Given the description of an element on the screen output the (x, y) to click on. 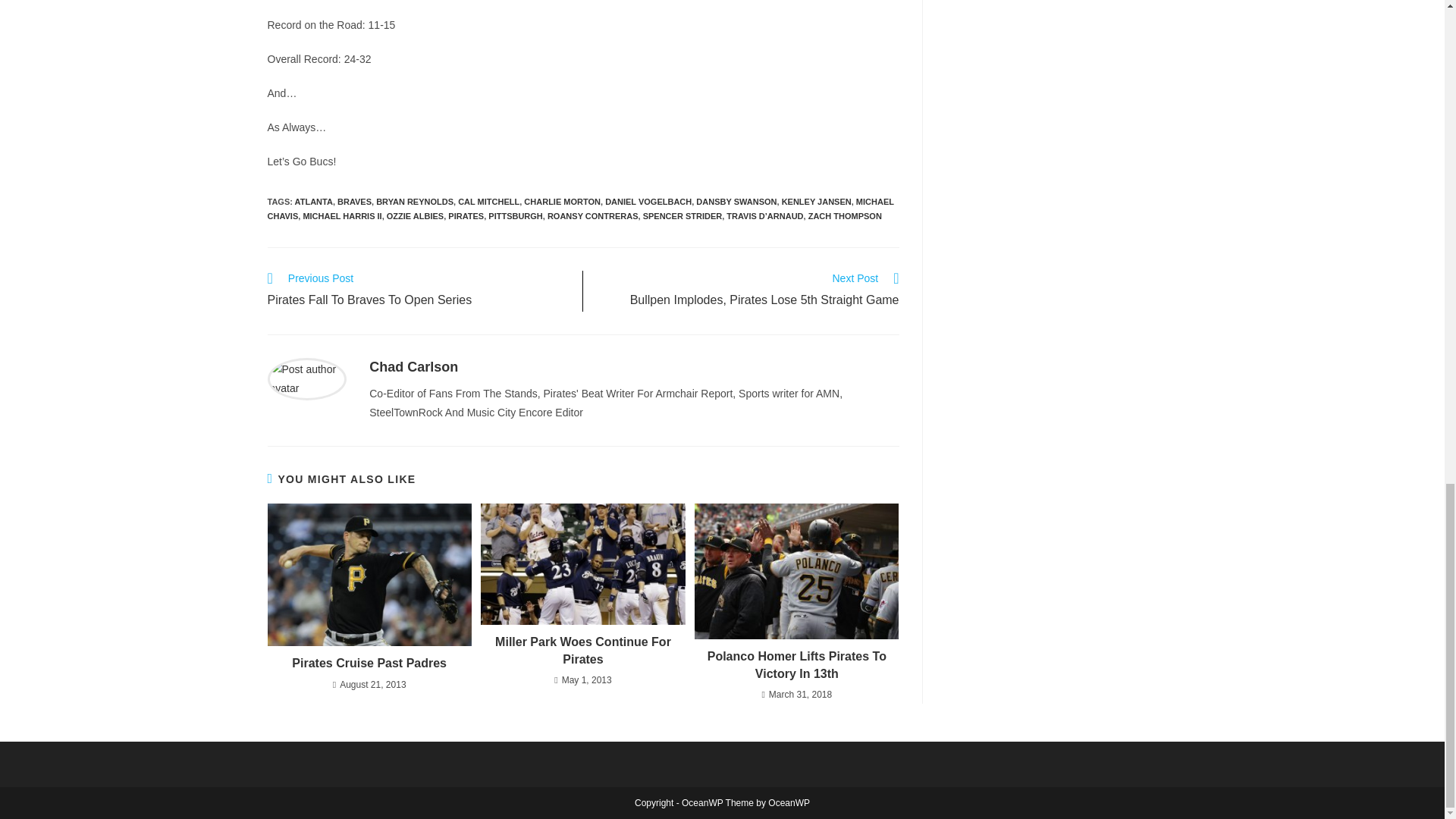
KENLEY JANSEN (816, 201)
BRAVES (354, 201)
MICHAEL HARRIS II (341, 215)
ATLANTA (314, 201)
MICHAEL CHAVIS (579, 209)
CAL MITCHELL (488, 201)
Visit author page (416, 291)
Visit author page (306, 378)
BRYAN REYNOLDS (413, 366)
CHARLIE MORTON (413, 201)
SPENCER STRIDER (561, 201)
Pirates Cruise Past Padres (682, 215)
PIRATES (368, 663)
